Given the description of an element on the screen output the (x, y) to click on. 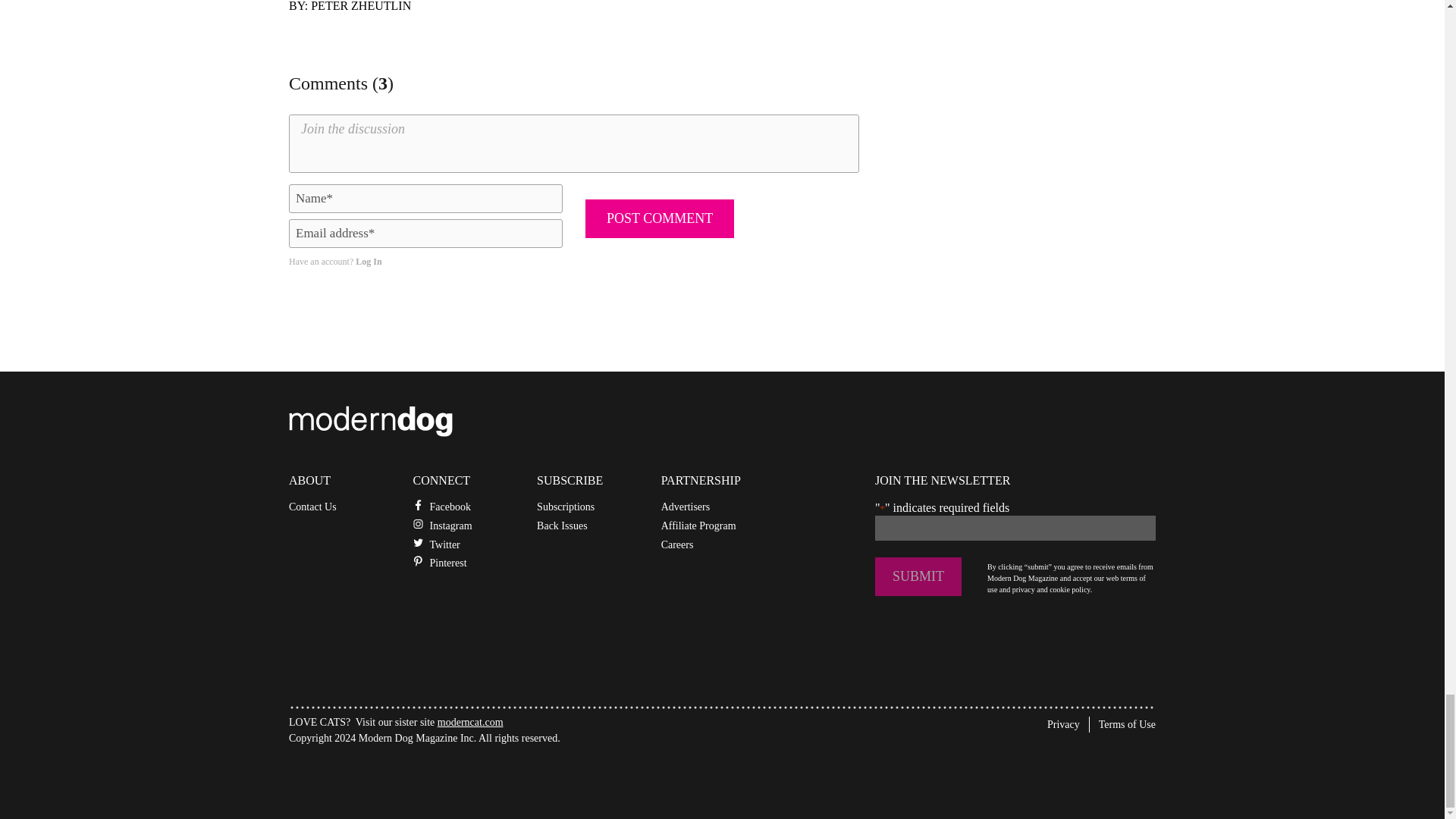
Funded by the Government of Canada (402, 775)
Submit (917, 576)
